Given the description of an element on the screen output the (x, y) to click on. 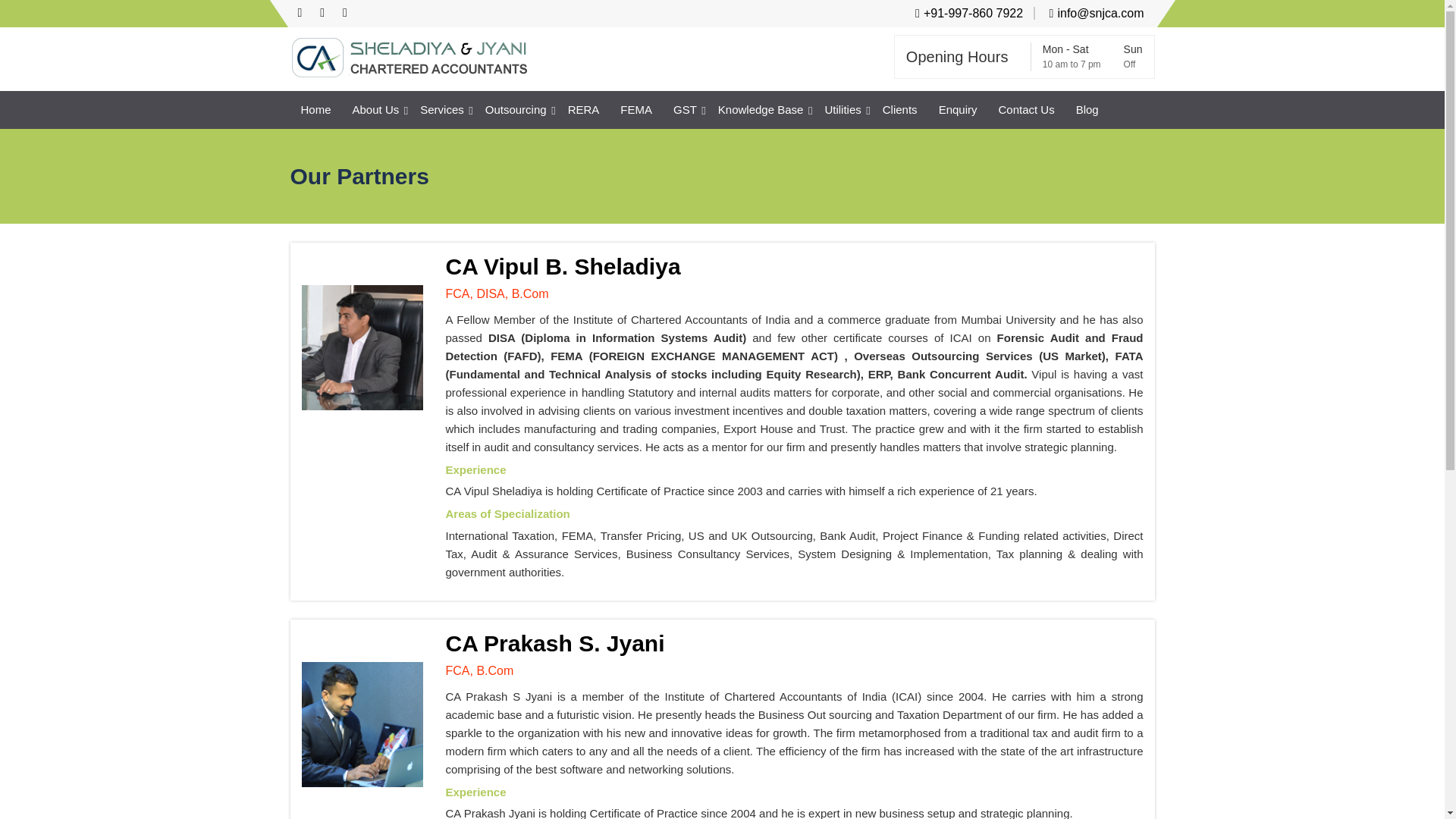
Home (314, 109)
Outsourcing (515, 109)
Facebook (298, 13)
Services (441, 109)
About Us (376, 109)
Twitter (322, 13)
Linkedin (344, 13)
